Given the description of an element on the screen output the (x, y) to click on. 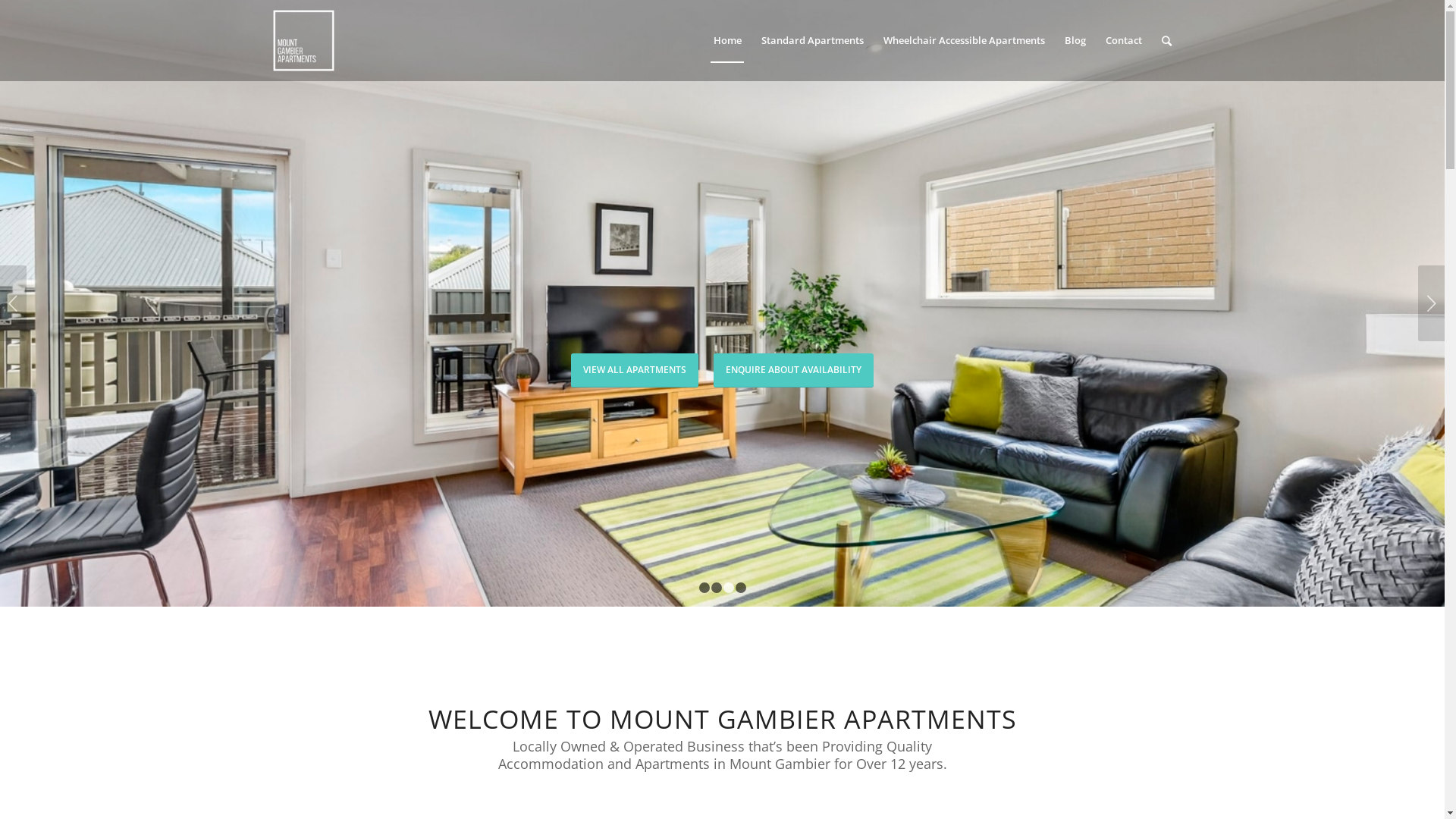
Home Element type: text (727, 40)
Contact Element type: text (1123, 40)
Standard Apartments Element type: text (811, 40)
2 Element type: text (716, 587)
ENQUIRE ABOUT AVAILABILITY Element type: text (793, 370)
Next Element type: text (1431, 303)
VIEW ALL APARTMENTS Element type: text (634, 370)
1 Element type: text (704, 587)
Blog Element type: text (1074, 40)
Previous Element type: text (13, 303)
Wheelchair Accessible Apartments Element type: text (963, 40)
4 Element type: text (740, 587)
3 Element type: text (728, 587)
